Given the description of an element on the screen output the (x, y) to click on. 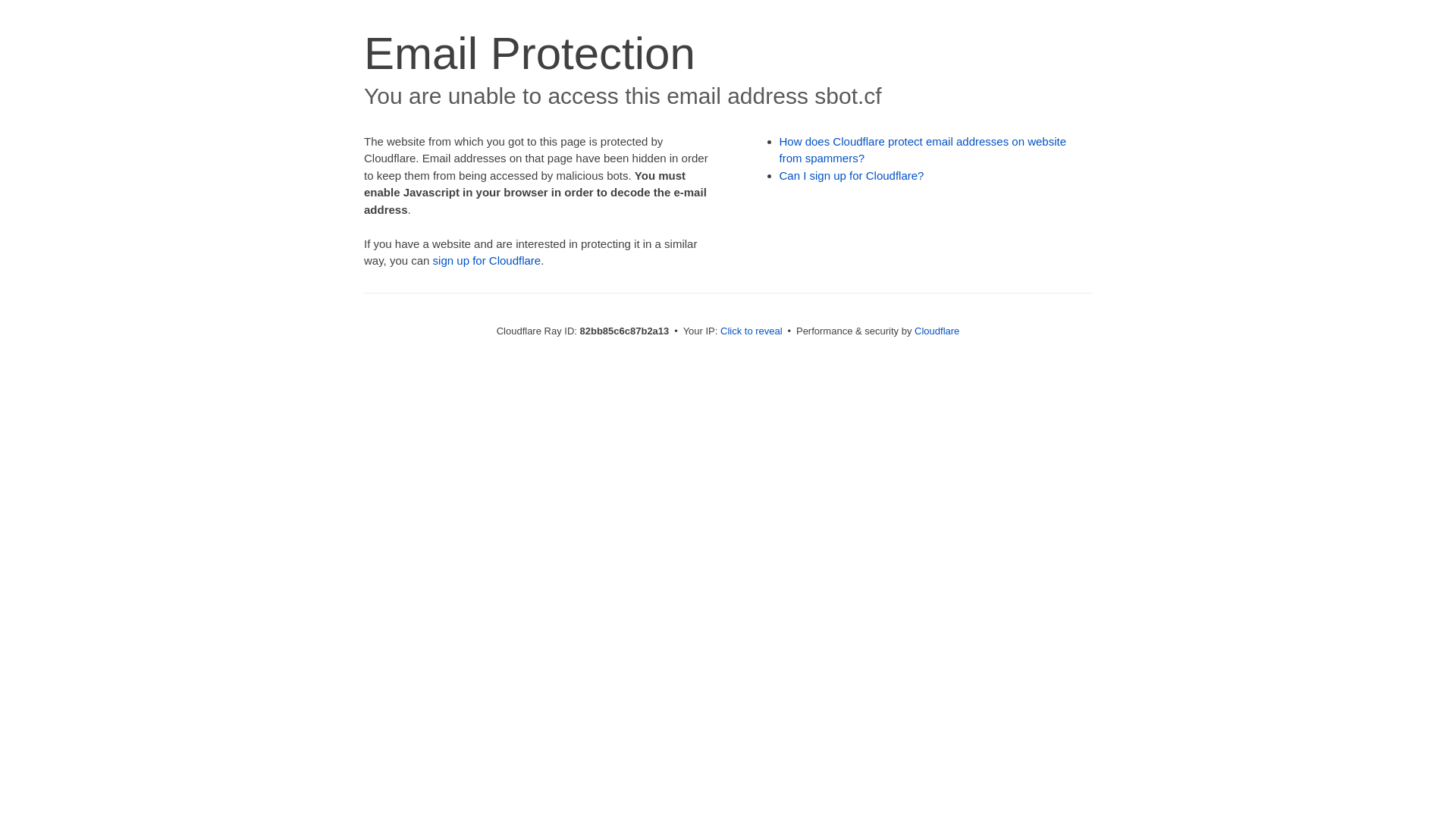
Cloudflare Element type: text (936, 330)
sign up for Cloudflare Element type: text (487, 260)
Can I sign up for Cloudflare? Element type: text (851, 175)
Click to reveal Element type: text (751, 330)
